Given the description of an element on the screen output the (x, y) to click on. 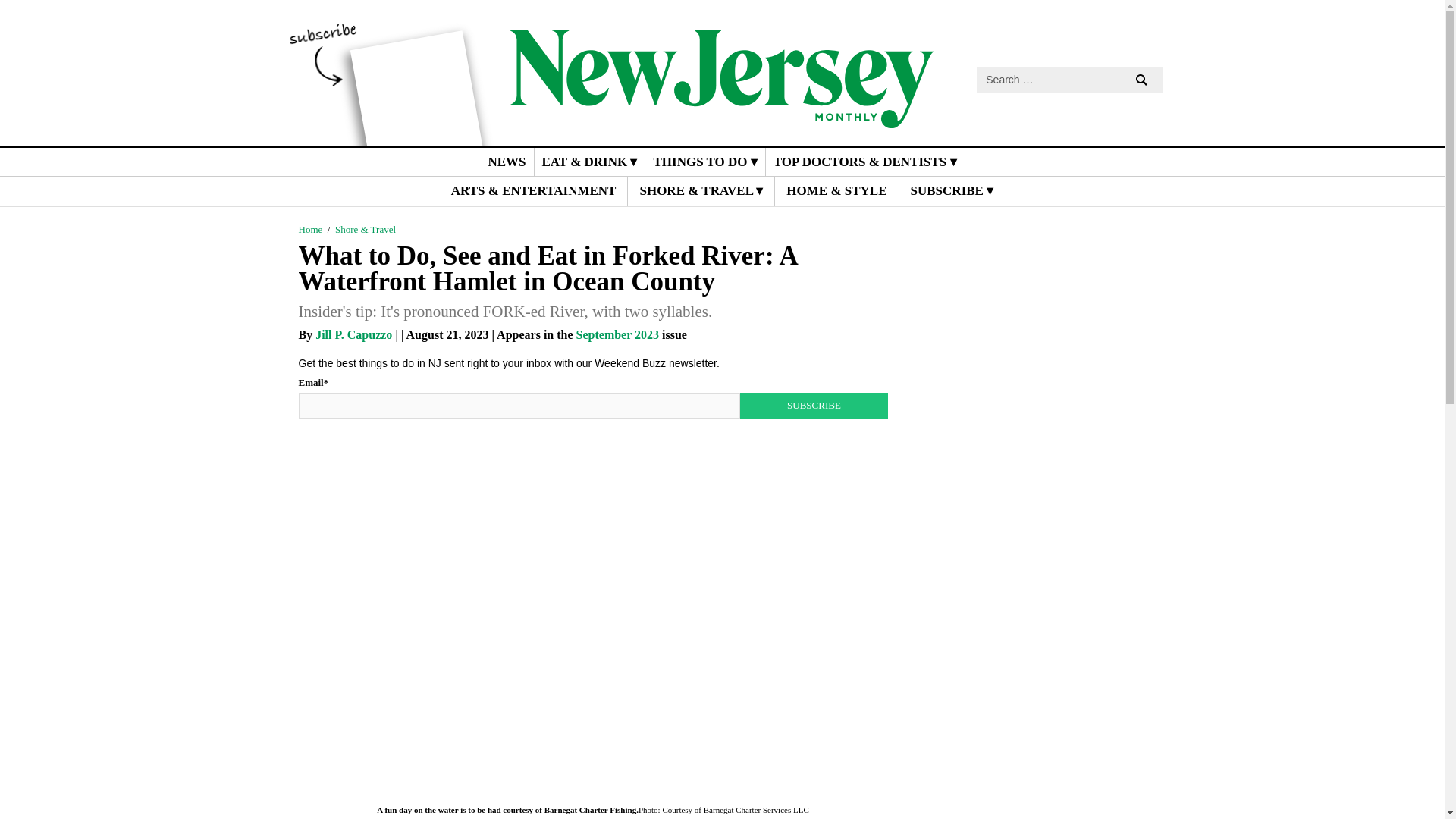
NEWS (506, 162)
Home (310, 229)
September 2023 (617, 334)
Subscribe (812, 405)
Subscribe (812, 405)
Search for: (1068, 79)
New Jersey Monthly (722, 116)
Jill P. Capuzzo (353, 334)
